Given the description of an element on the screen output the (x, y) to click on. 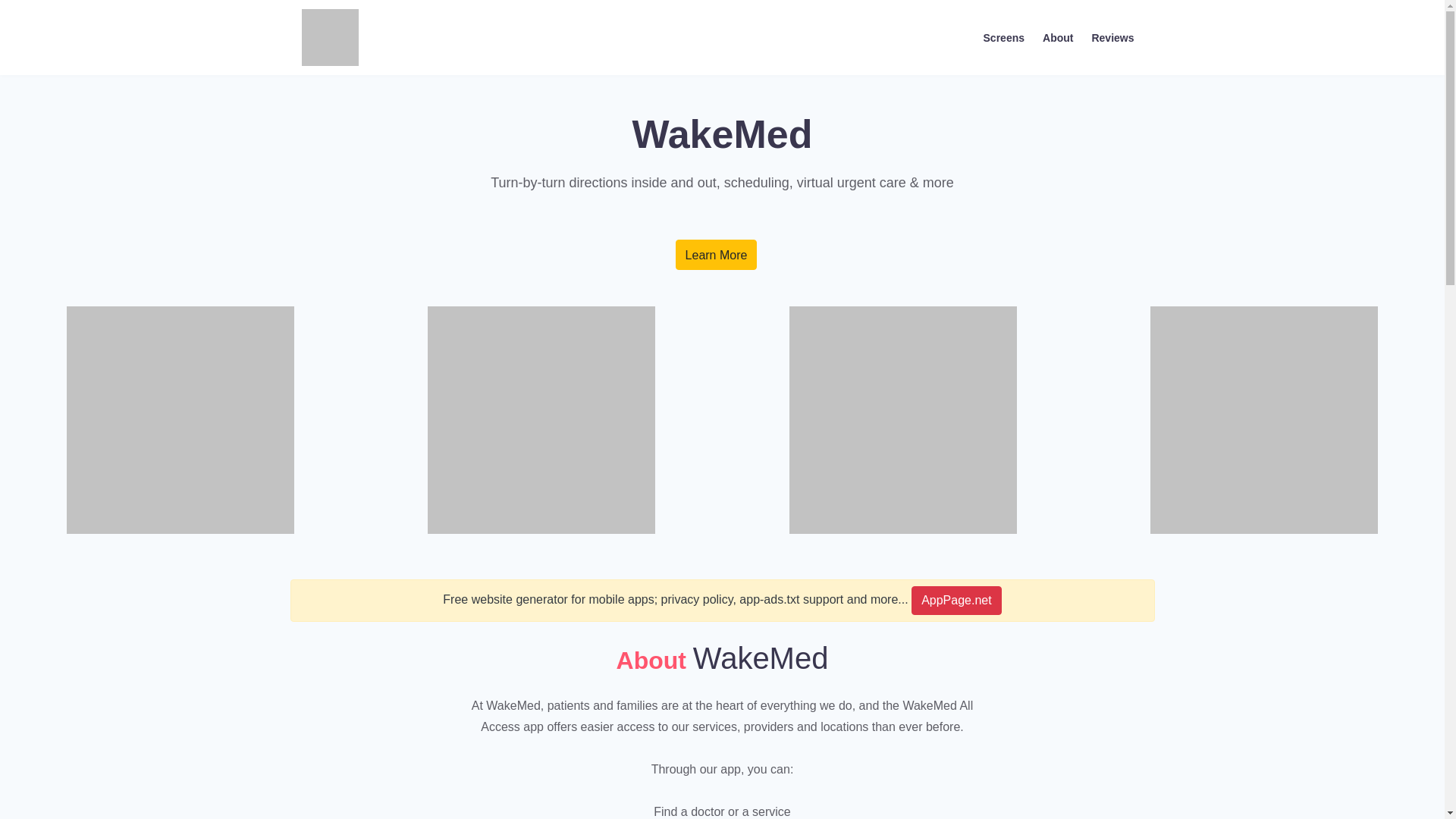
AppPage.net (956, 600)
Reviews (1111, 36)
Screens (1003, 36)
About (1057, 36)
Screens (1003, 36)
Learn More (716, 254)
Learn More (716, 254)
Reviews (1111, 36)
About (1057, 36)
Learn More (716, 254)
